Given the description of an element on the screen output the (x, y) to click on. 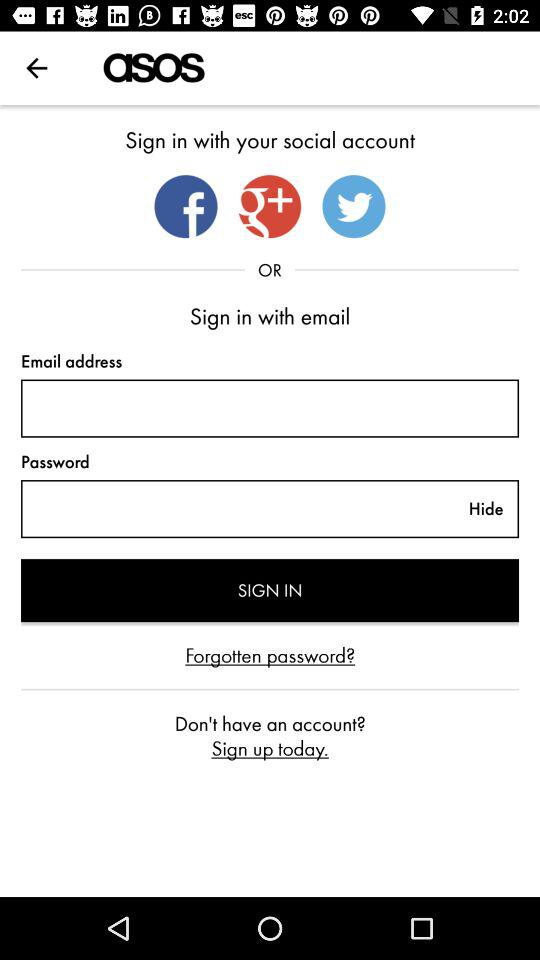
connect with twitter (353, 206)
